Given the description of an element on the screen output the (x, y) to click on. 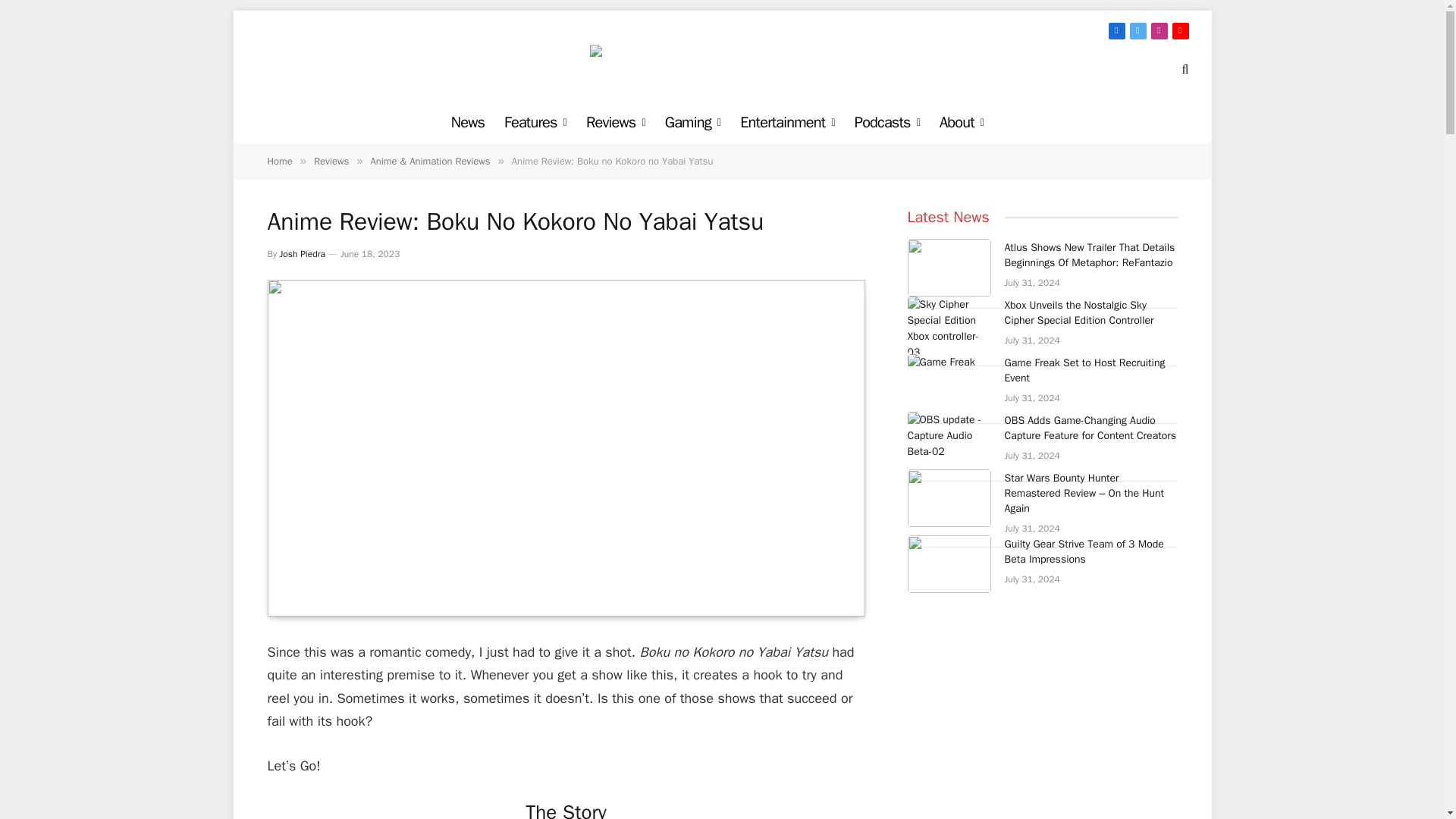
Facebook (1116, 30)
Posts by Josh Piedra (301, 254)
Reviews (615, 122)
YouTube (1180, 30)
The Outerhaven (722, 68)
Features (535, 122)
News (468, 122)
Instagram (1159, 30)
